Given the description of an element on the screen output the (x, y) to click on. 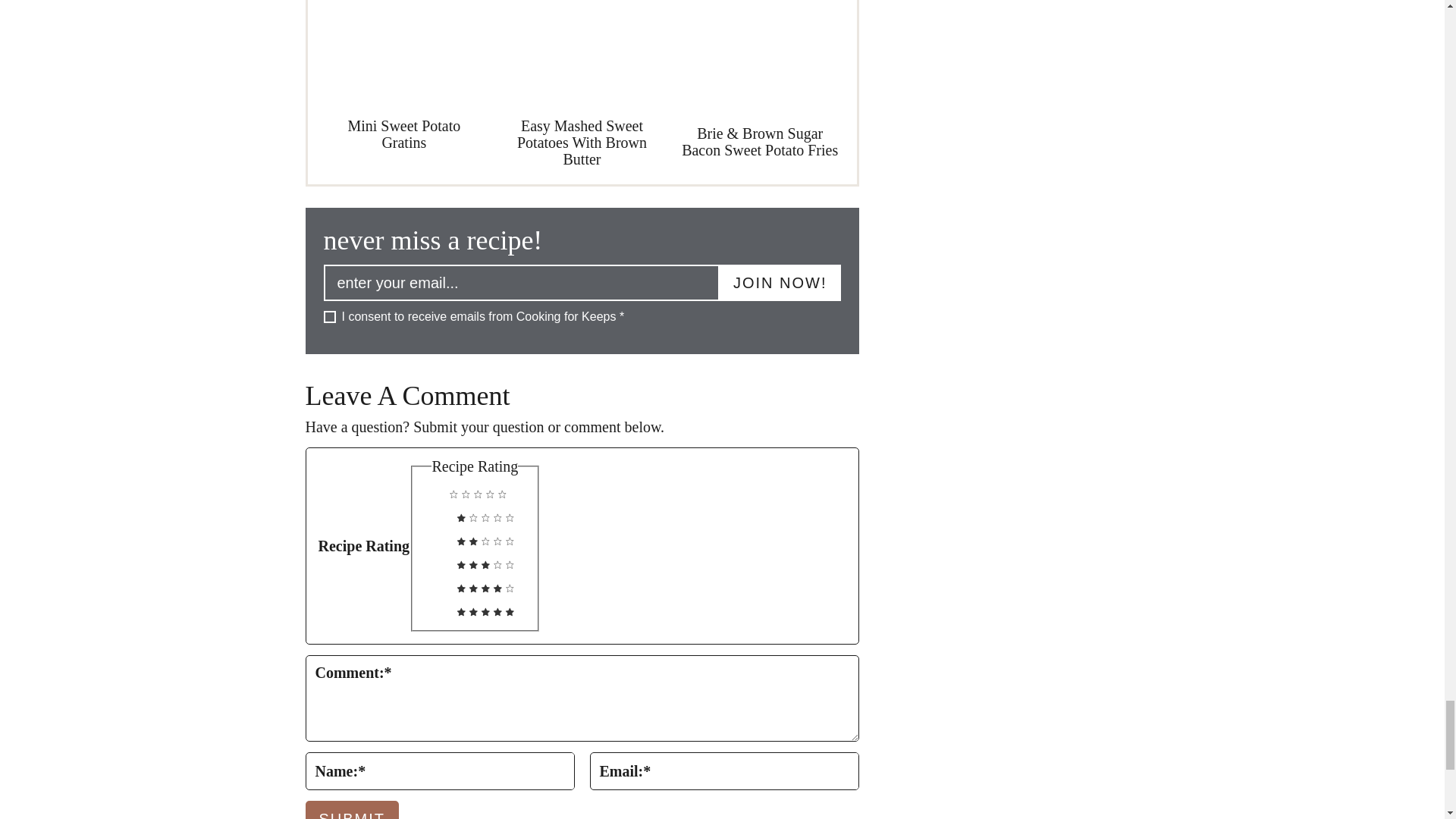
1 (434, 513)
Submit (351, 809)
5 (434, 607)
 I consent to receive emails from Cooking for Keeps (328, 316)
2 (434, 536)
3 (434, 559)
0 (427, 489)
4 (434, 583)
